Given the description of an element on the screen output the (x, y) to click on. 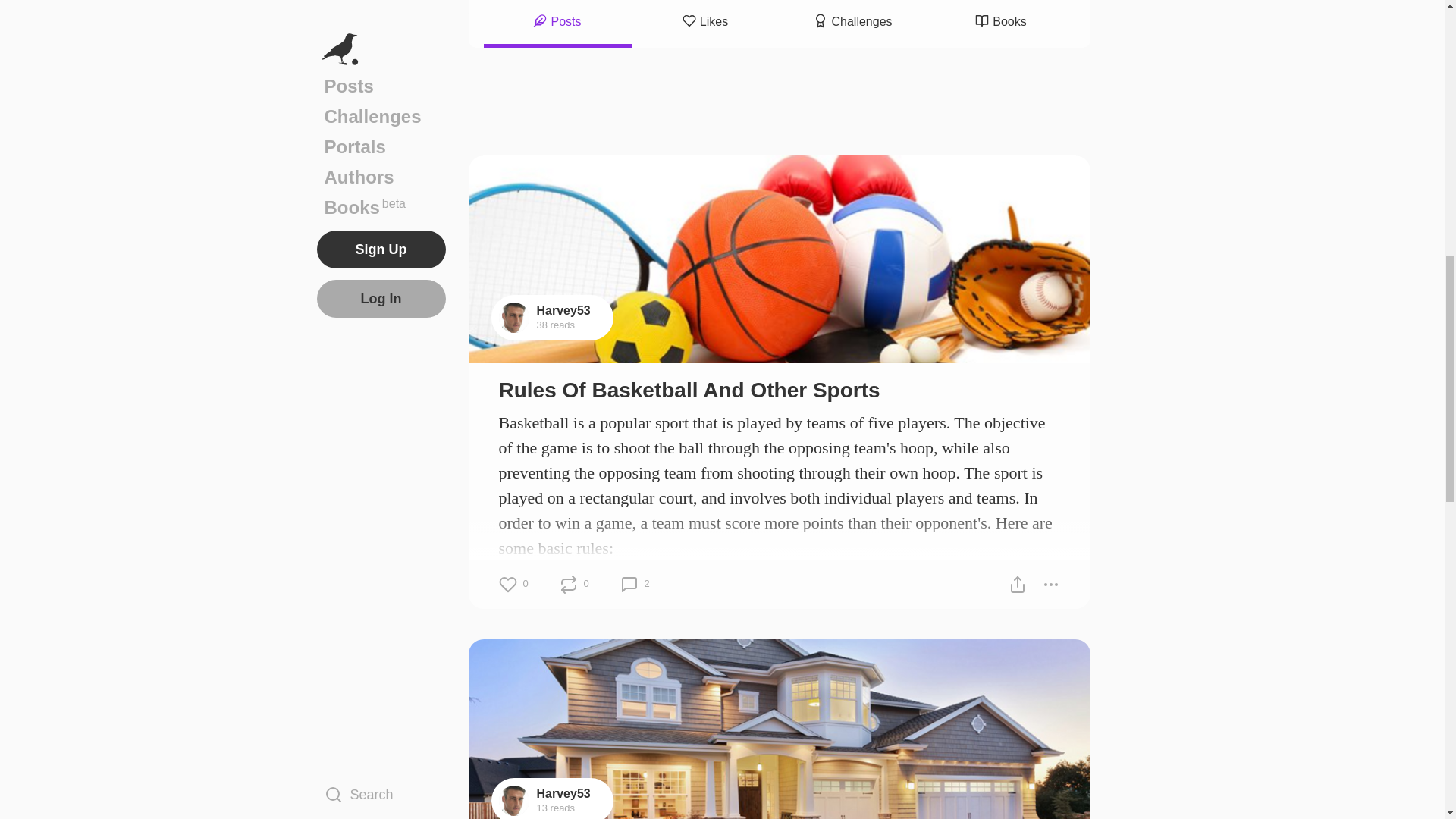
Disable Ads (1058, 10)
Harvey53 (564, 793)
Harvey53 (564, 309)
